Given the description of an element on the screen output the (x, y) to click on. 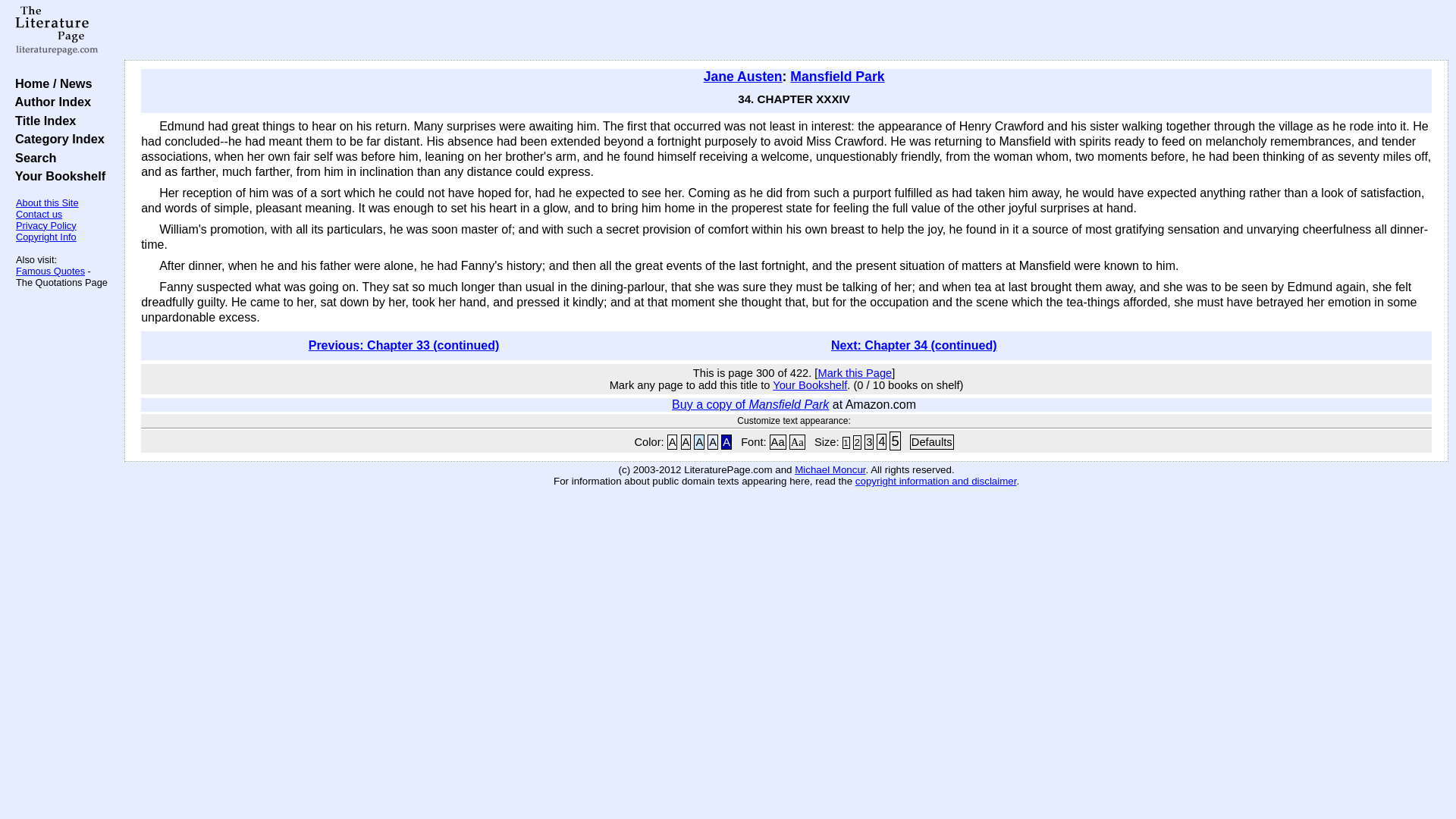
Contact us (39, 214)
Michael Moncur (829, 469)
Copyright Info (46, 236)
About this Site (47, 202)
copyright information and disclaimer (936, 480)
  Search (32, 157)
  Category Index (56, 138)
  Title Index (41, 120)
Jane Austen (743, 76)
Your Bookshelf (810, 385)
Mark this Page (853, 372)
  Your Bookshelf (56, 175)
Defaults (931, 441)
Aa (778, 441)
  Author Index (49, 101)
